Given the description of an element on the screen output the (x, y) to click on. 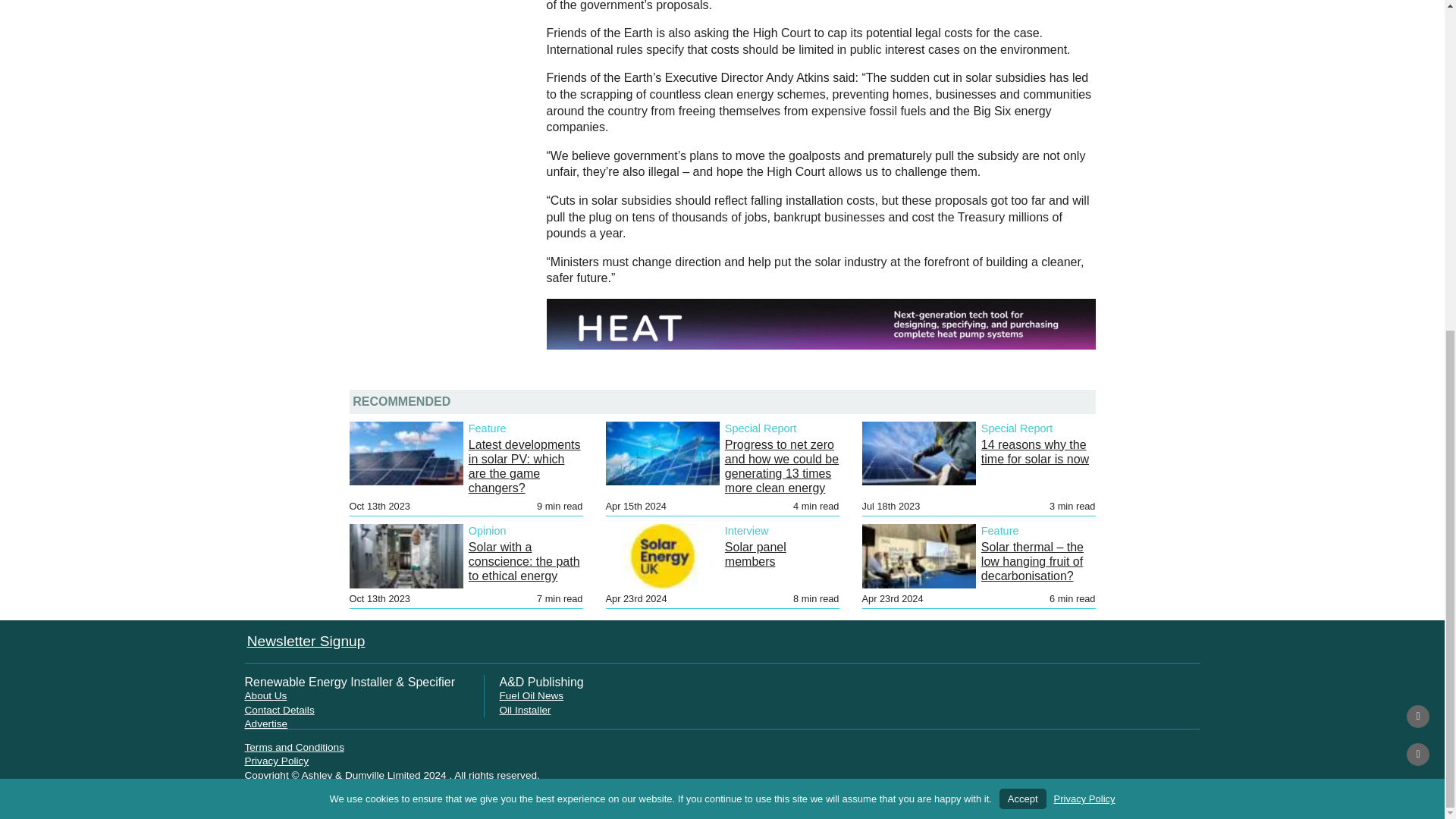
14 reasons why the time for solar is now (1035, 452)
Solar with a conscience: the path to ethical energy (523, 561)
14 reasons why the time for solar is now (1035, 452)
Solar panel members (755, 554)
Solar with a conscience: the path to ethical energy (523, 561)
